Given the description of an element on the screen output the (x, y) to click on. 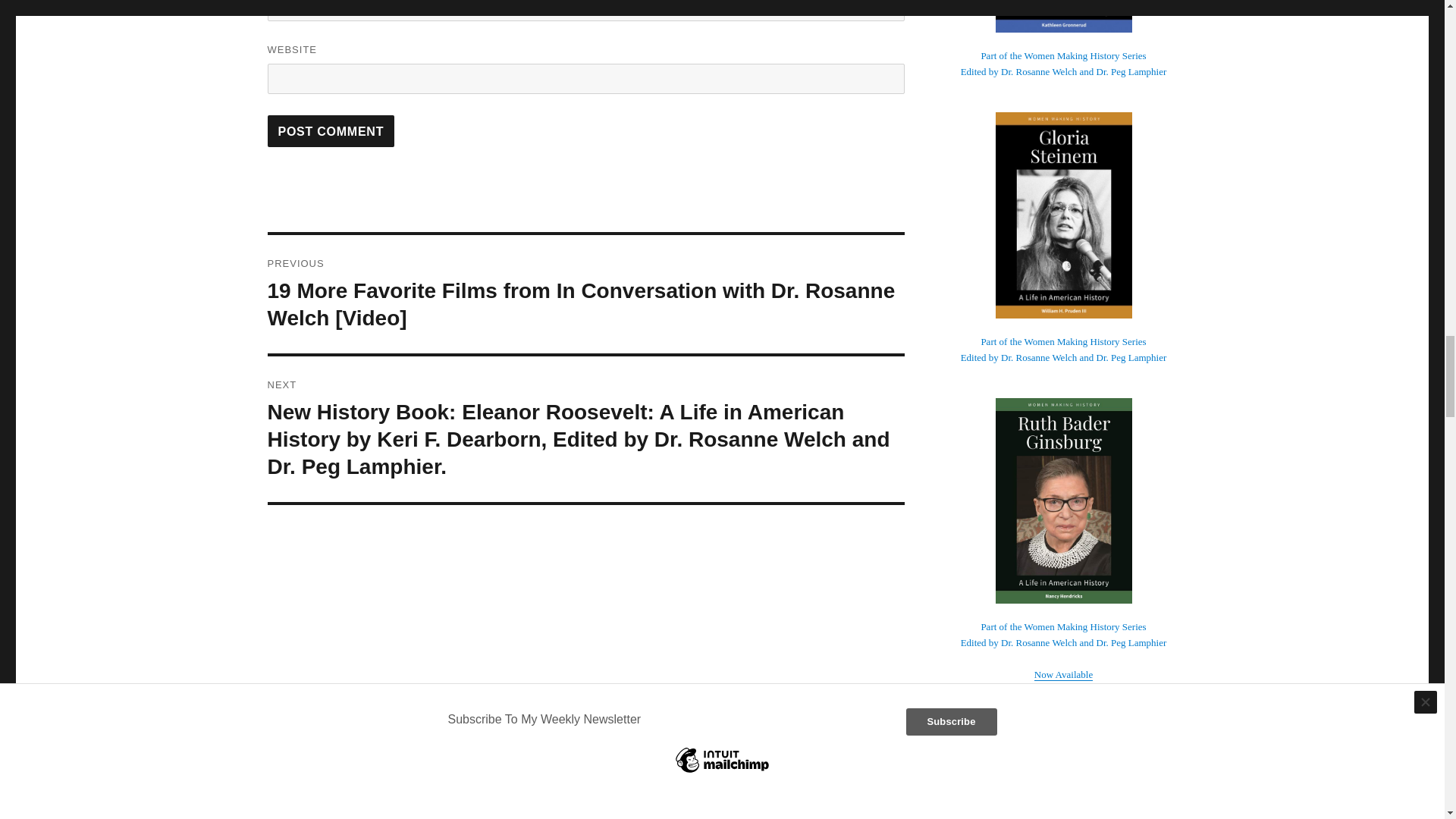
Post Comment (330, 131)
